Given the description of an element on the screen output the (x, y) to click on. 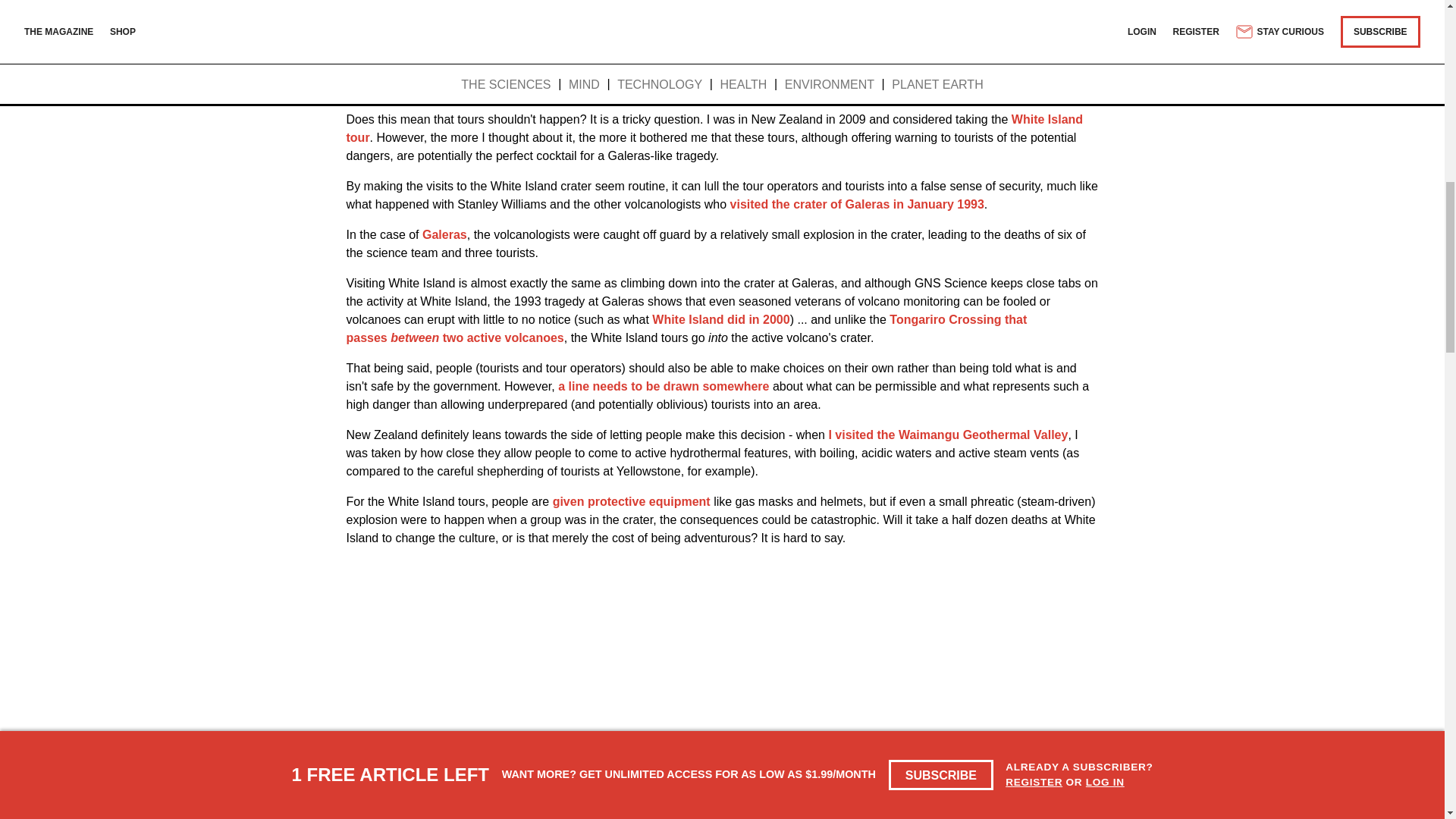
Tongariro Crossing that passes between two active volcanoes (686, 327)
White Island did in 2000 (720, 318)
Norris Geyser Basin (769, 40)
I visited the Waimangu Geothermal Valley (947, 434)
between 1998 and 2001 (819, 70)
Bumpass Hell (966, 40)
White Island tour (714, 128)
visited the crater of Galeras in January 1993 (857, 204)
a line needs to be drawn somewhere (662, 386)
Galeras (444, 234)
